Given the description of an element on the screen output the (x, y) to click on. 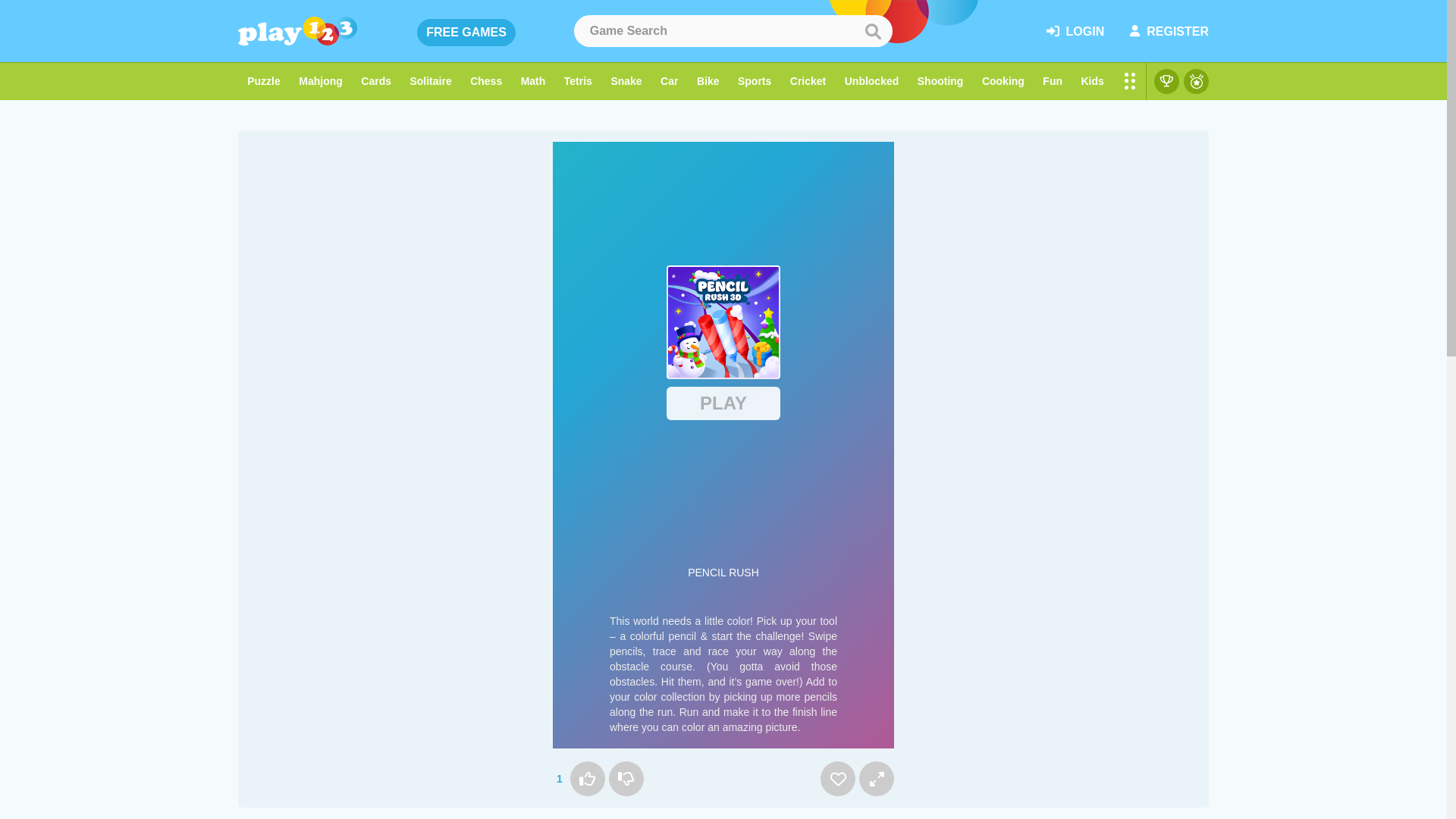
Mahjong (320, 81)
Math (532, 81)
free games (465, 31)
Cards (376, 81)
Games with Medals (1195, 81)
Car (668, 81)
Snake (625, 81)
Cooking (1002, 81)
Fun (1052, 81)
FREE GAMES (465, 31)
Bike (708, 81)
Sports (754, 81)
Puzzle (263, 81)
Even more games (1129, 81)
Shooting (940, 81)
